Given the description of an element on the screen output the (x, y) to click on. 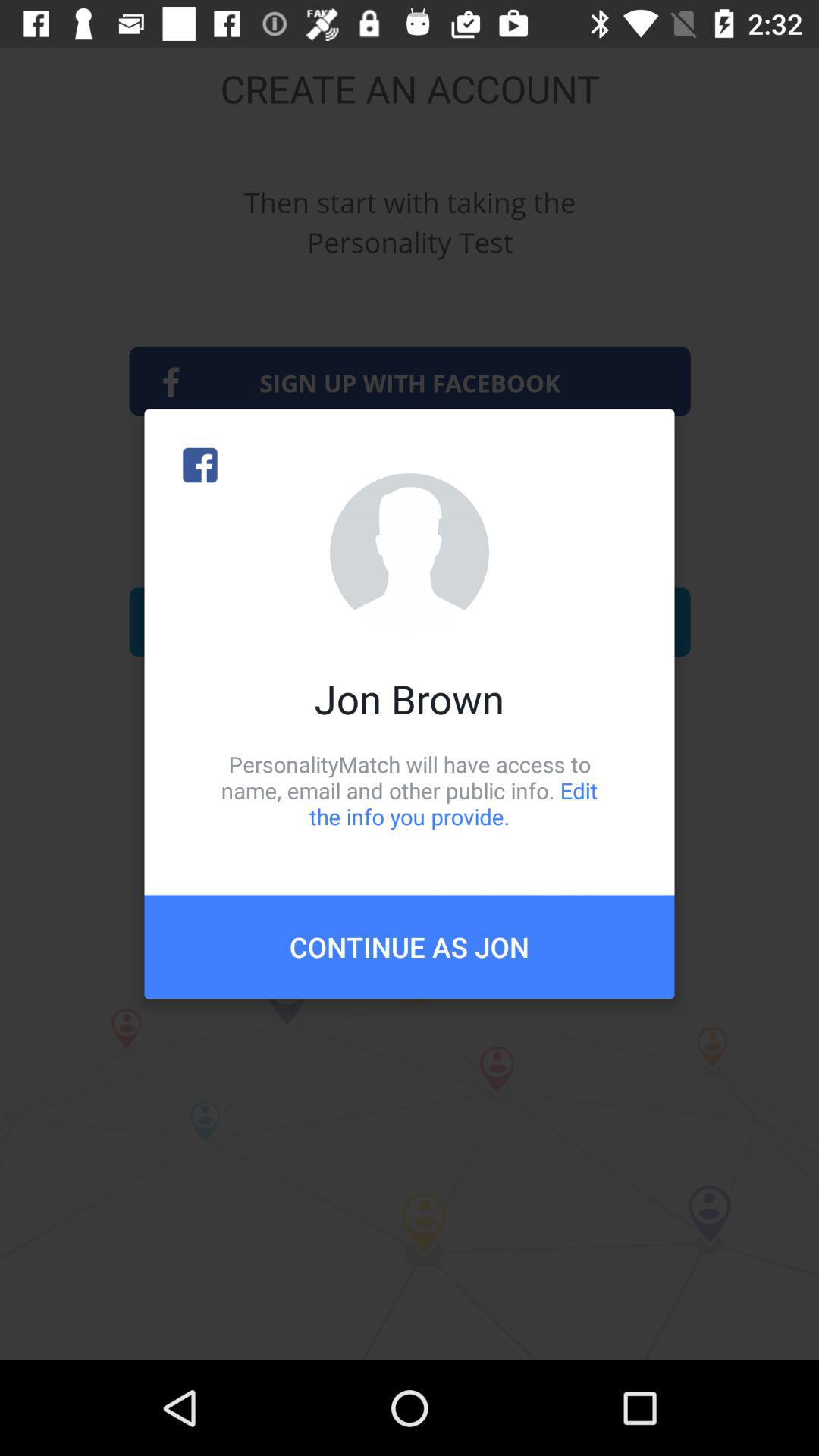
scroll until the personalitymatch will have (409, 790)
